Given the description of an element on the screen output the (x, y) to click on. 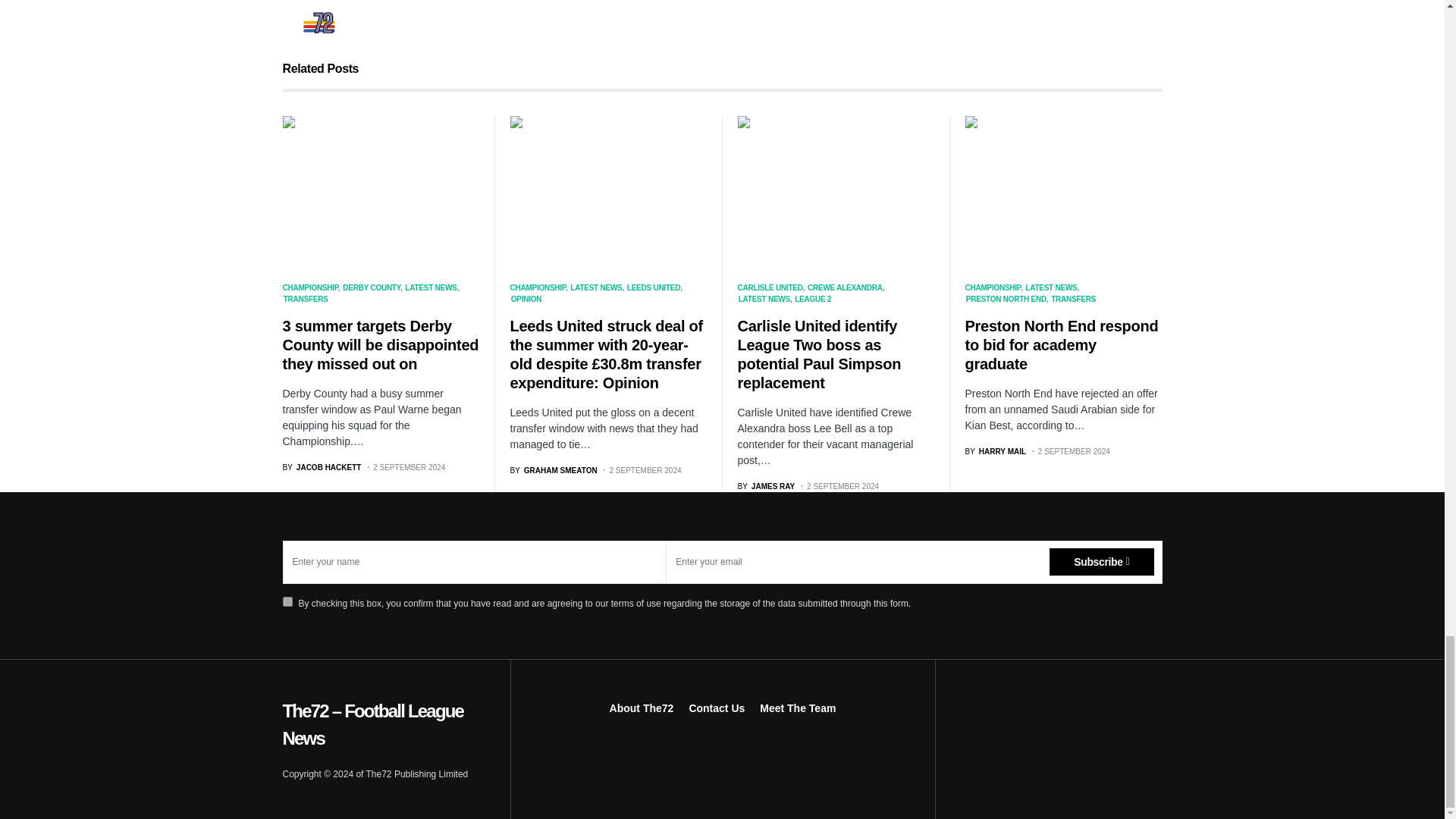
View all posts by James Ray (765, 486)
View all posts by Graham Smeaton (552, 470)
View all posts by James Ray (704, 6)
on (287, 601)
View all posts by Jacob Hackett (321, 467)
